Given the description of an element on the screen output the (x, y) to click on. 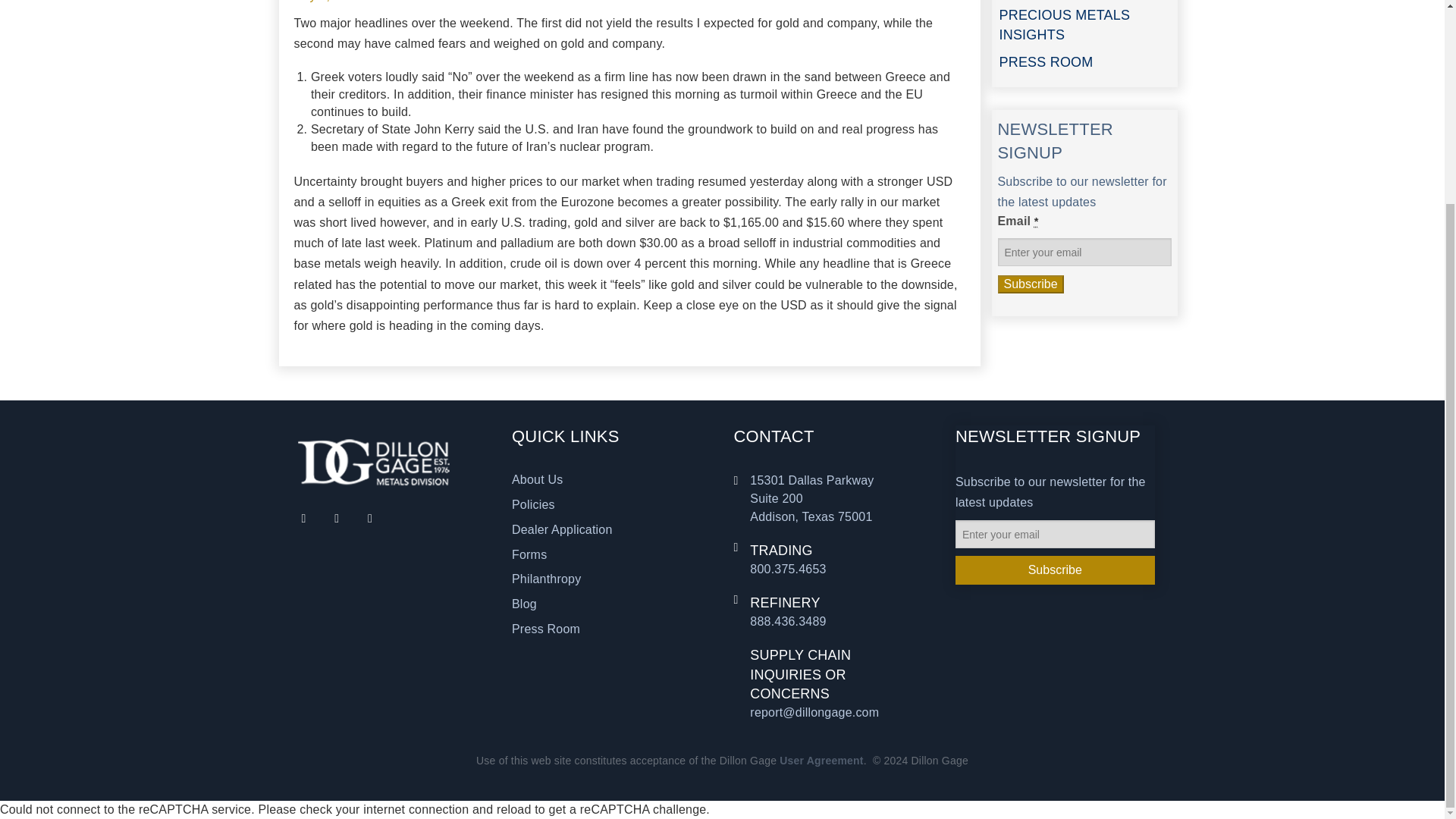
Dillon Gage (373, 461)
Subscribe (1030, 284)
Subscribe (1054, 570)
required (1036, 221)
